Given the description of an element on the screen output the (x, y) to click on. 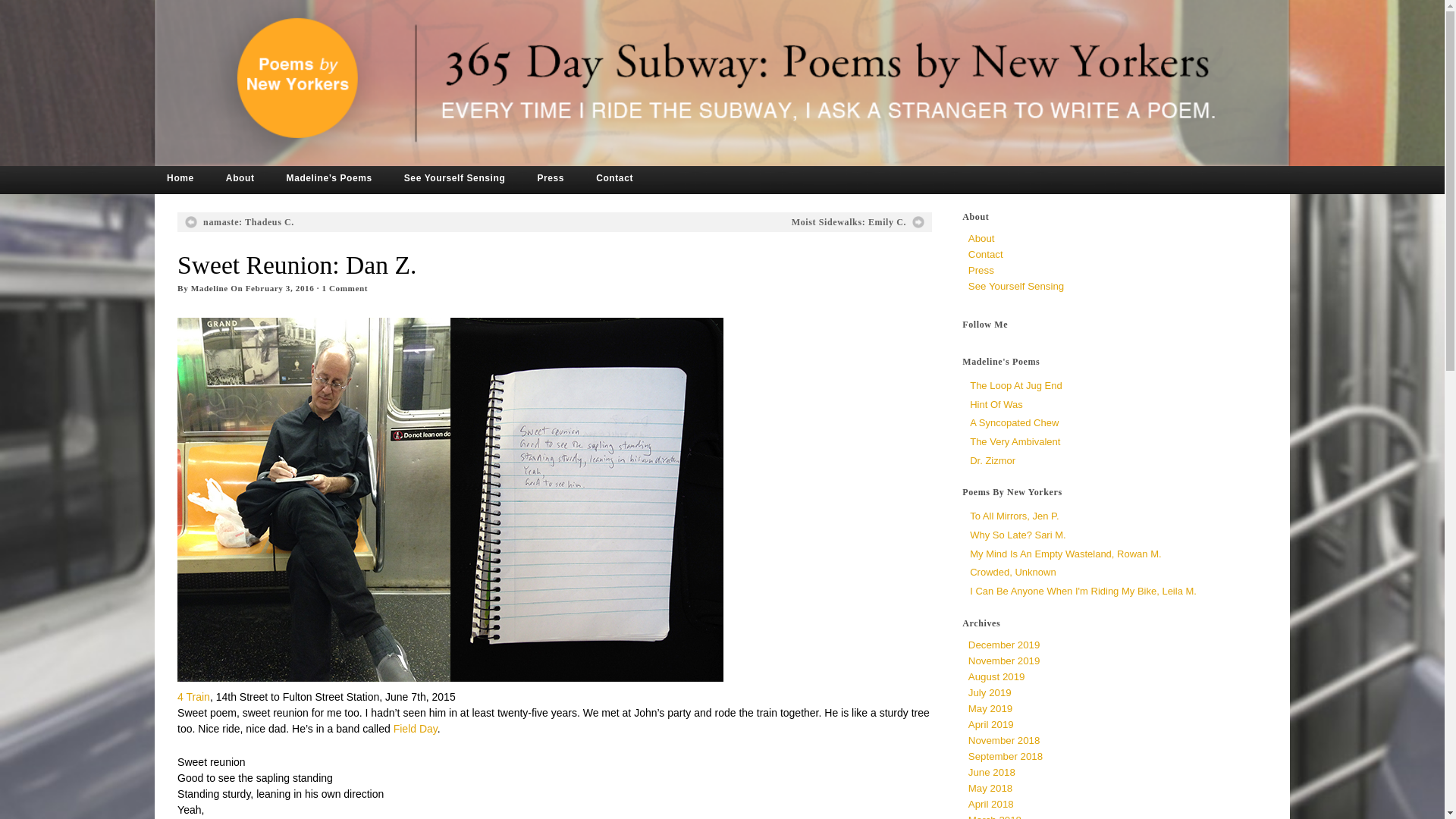
See Yourself Sensing (1016, 285)
The Loop at Jug End (1015, 385)
See Yourself Sensing (470, 176)
Hint Of Was (996, 404)
4 Train (193, 696)
Moist Sidewalks: Emily C. (858, 222)
Press (565, 176)
Press (981, 270)
A Syncopated Chew (1013, 422)
I Can Be Anyone When I'm Riding My Bike, Leila M. (1082, 591)
Field Day (415, 728)
To All Mirrors, Jen P. (1014, 515)
1 Comment (344, 287)
Why So Late? Sari M. (1017, 534)
The Loop At Jug End (1015, 385)
